Given the description of an element on the screen output the (x, y) to click on. 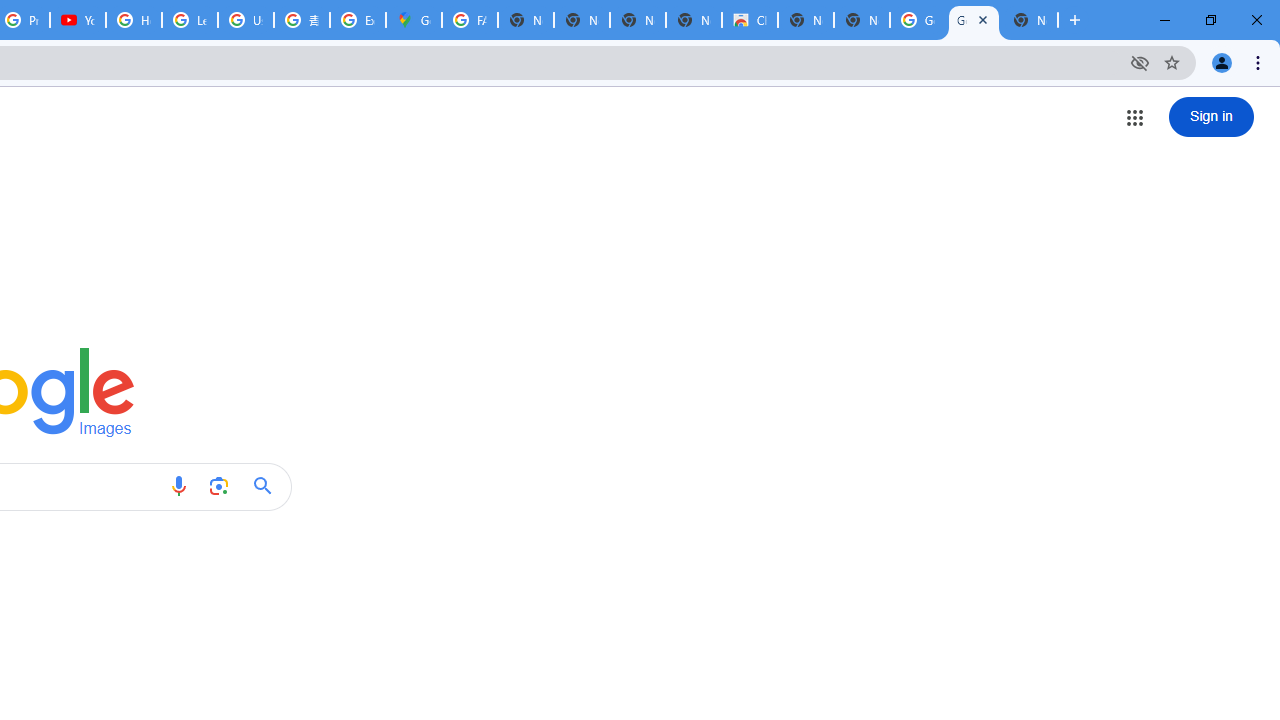
Explore new street-level details - Google Maps Help (358, 20)
Google Images (917, 20)
New Tab (1030, 20)
Google Maps (413, 20)
Search by image (218, 485)
Google Images (973, 20)
YouTube (77, 20)
Google apps (1134, 117)
